Given the description of an element on the screen output the (x, y) to click on. 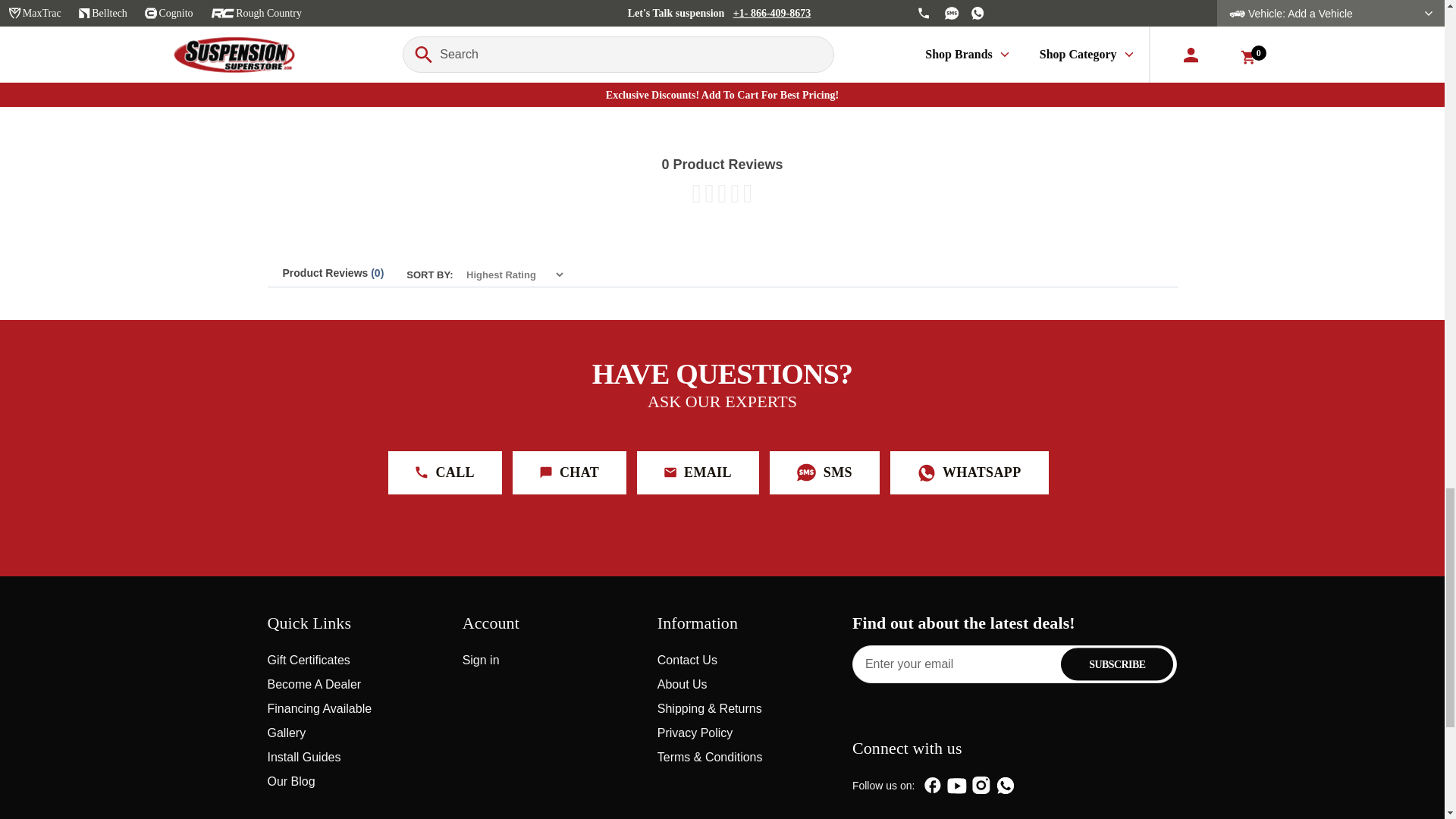
Subscribe (1117, 663)
